Given the description of an element on the screen output the (x, y) to click on. 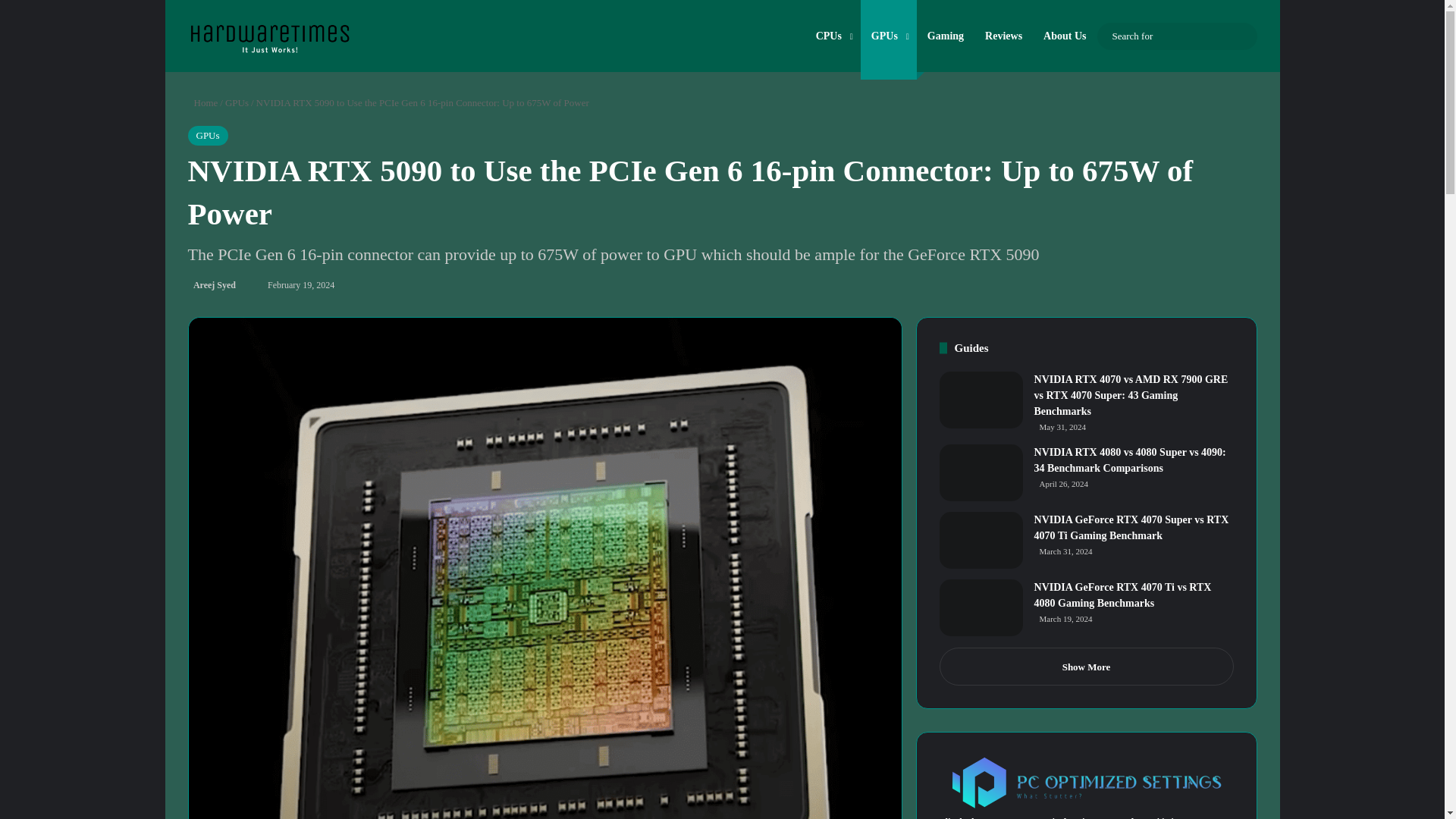
GPUs (207, 135)
Areej Syed (211, 285)
Hardware Times (268, 34)
Search for (1176, 36)
Search for (1242, 35)
Areej Syed (211, 285)
GPUs (236, 102)
Home (202, 102)
